Given the description of an element on the screen output the (x, y) to click on. 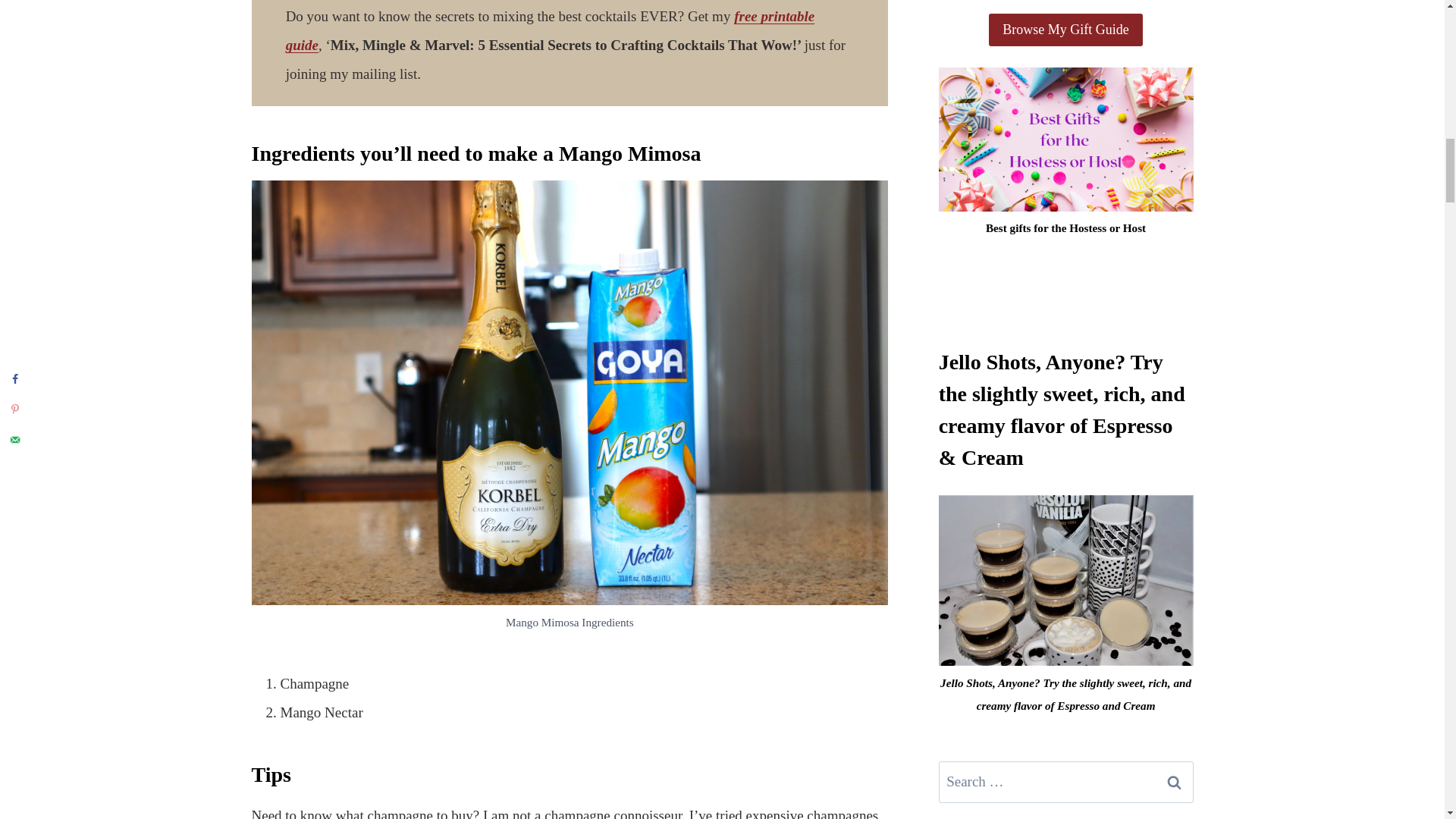
Search (1174, 782)
free printable guide (550, 30)
Search (1174, 782)
